Given the description of an element on the screen output the (x, y) to click on. 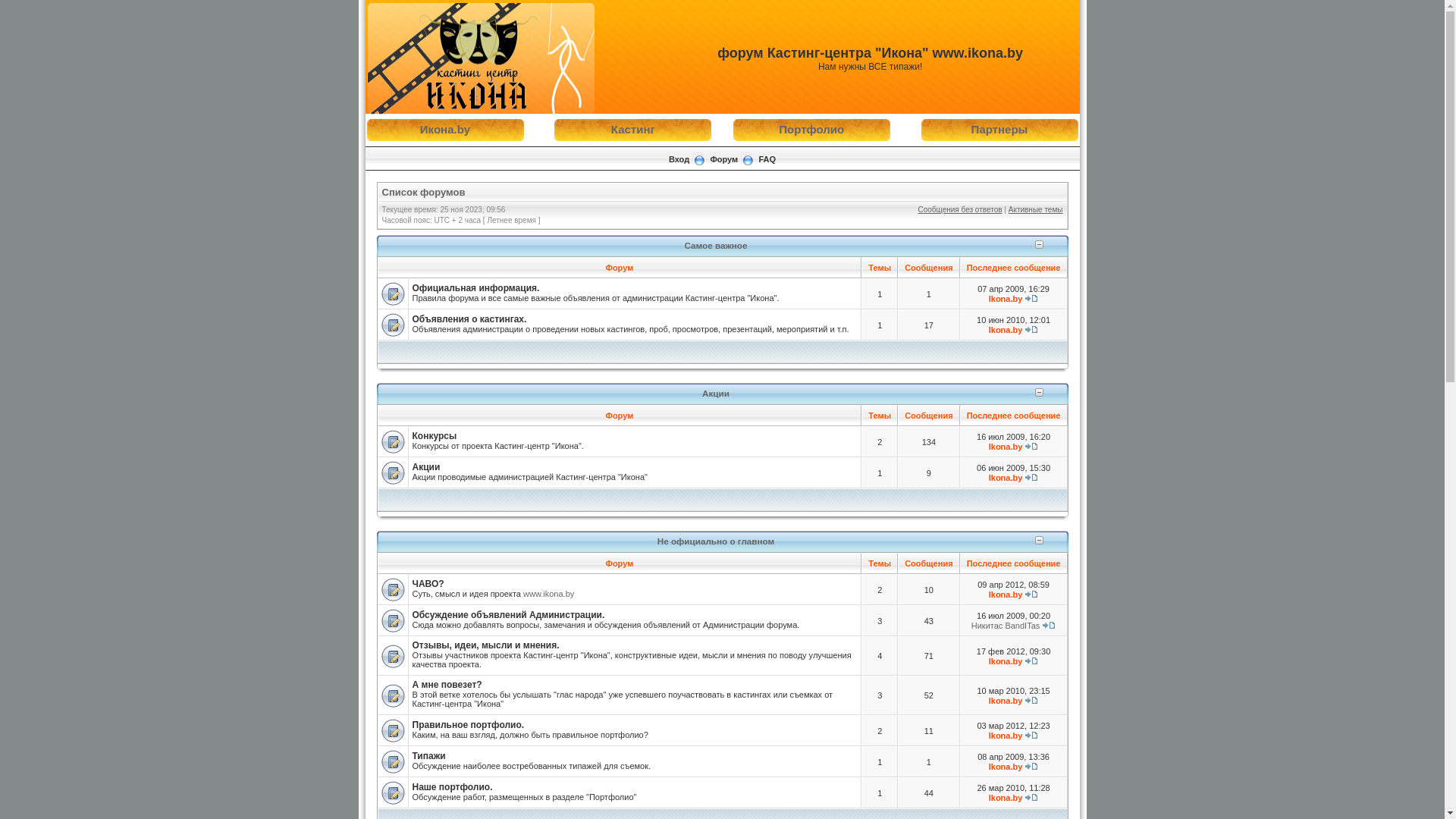
www.ikona.by Element type: text (548, 592)
Ikona.by Element type: text (1005, 329)
Ikona.by Element type: text (1005, 735)
Ikona.by Element type: text (1005, 700)
Ikona.by Element type: text (1005, 766)
Ikona.by Element type: text (1005, 477)
Ikona.by Element type: text (1005, 594)
Ikona.by Element type: text (1005, 298)
FAQ Element type: text (766, 158)
Ikona.by Element type: text (1005, 446)
Ikona.by Element type: text (1005, 797)
Ikona.by Element type: text (1005, 660)
